Given the description of an element on the screen output the (x, y) to click on. 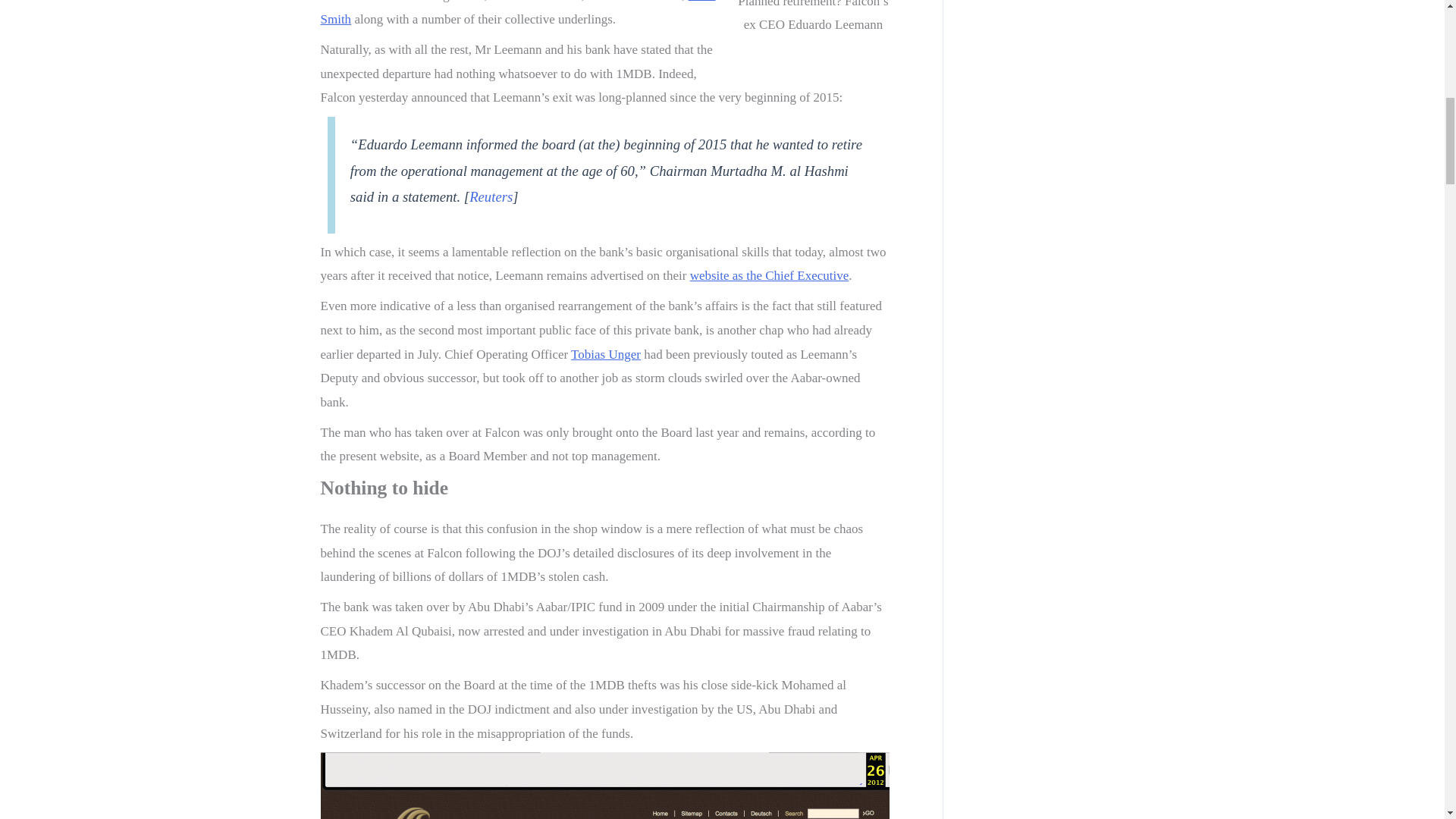
Advertisement (1088, 67)
